Given the description of an element on the screen output the (x, y) to click on. 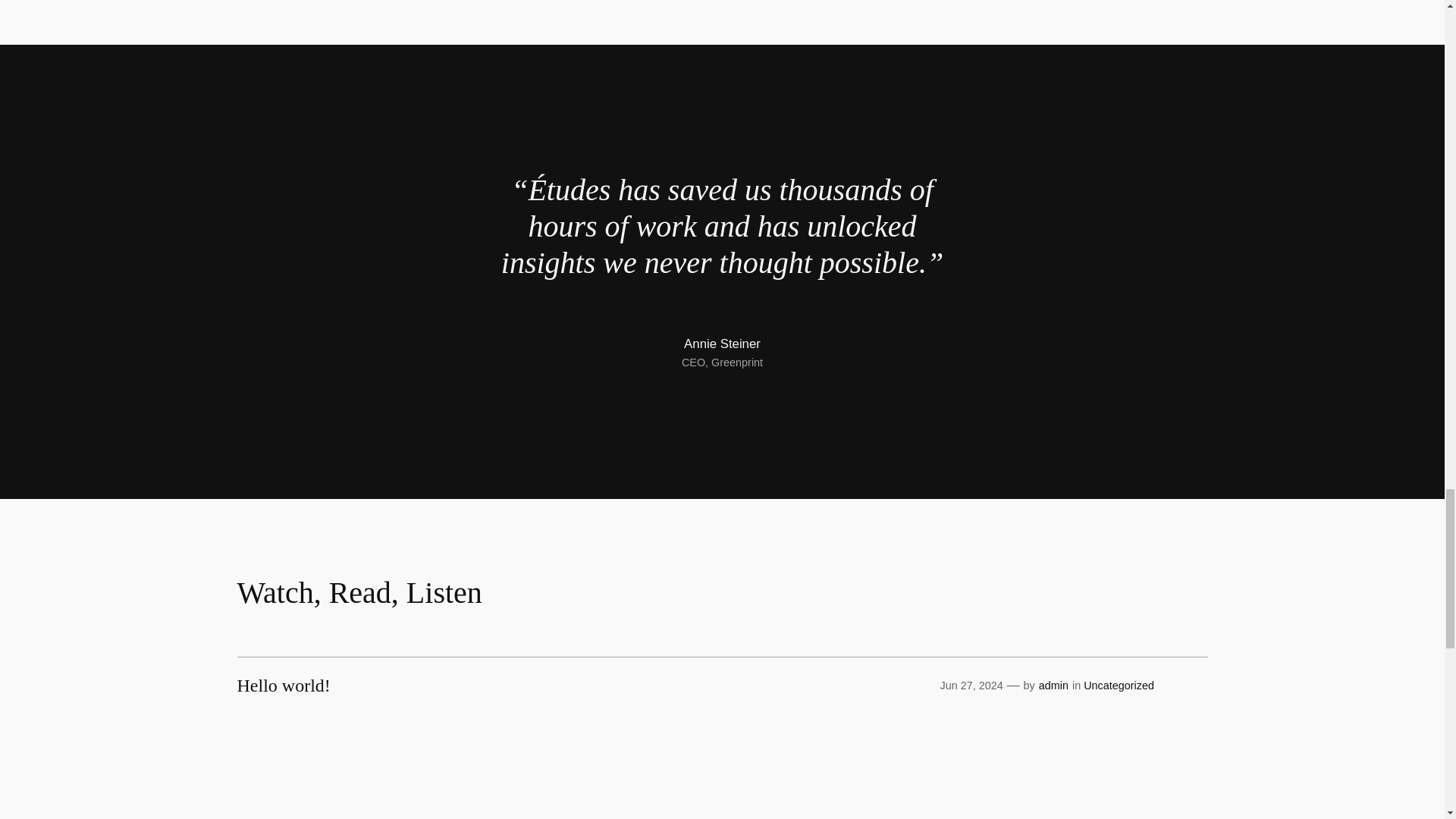
admin (1053, 685)
Jun 27, 2024 (971, 685)
Hello world! (282, 685)
Uncategorized (1118, 685)
